Given the description of an element on the screen output the (x, y) to click on. 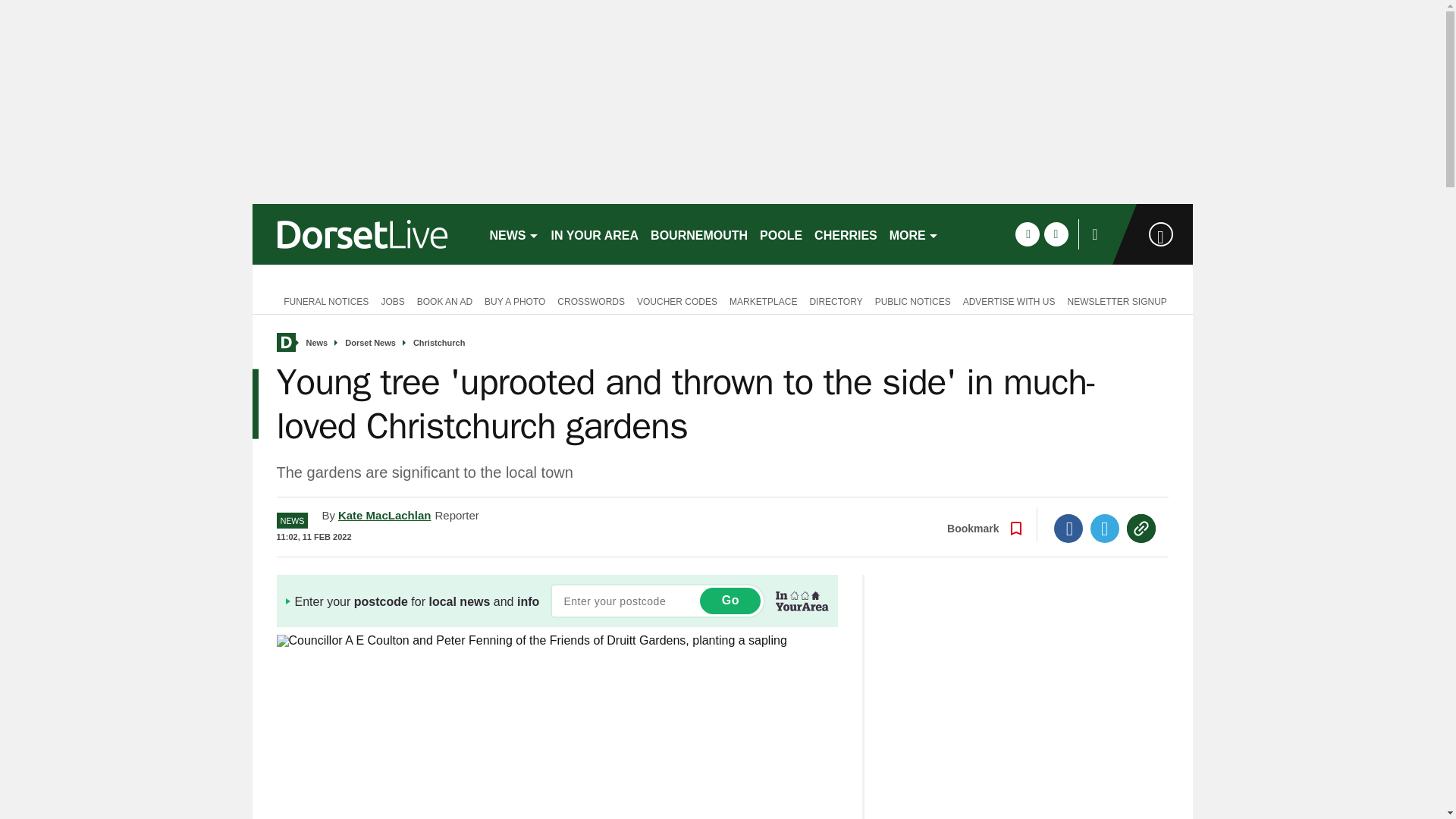
POOLE (781, 233)
facebook (1026, 233)
twitter (1055, 233)
MORE (913, 233)
CROSSWORDS (590, 300)
BUY A PHOTO (515, 300)
BOURNEMOUTH (699, 233)
NEWS (513, 233)
Go (730, 601)
Facebook (1068, 528)
CHERRIES (845, 233)
VOUCHER CODES (676, 300)
DIRECTORY (835, 300)
JOBS (392, 300)
Twitter (1104, 528)
